Given the description of an element on the screen output the (x, y) to click on. 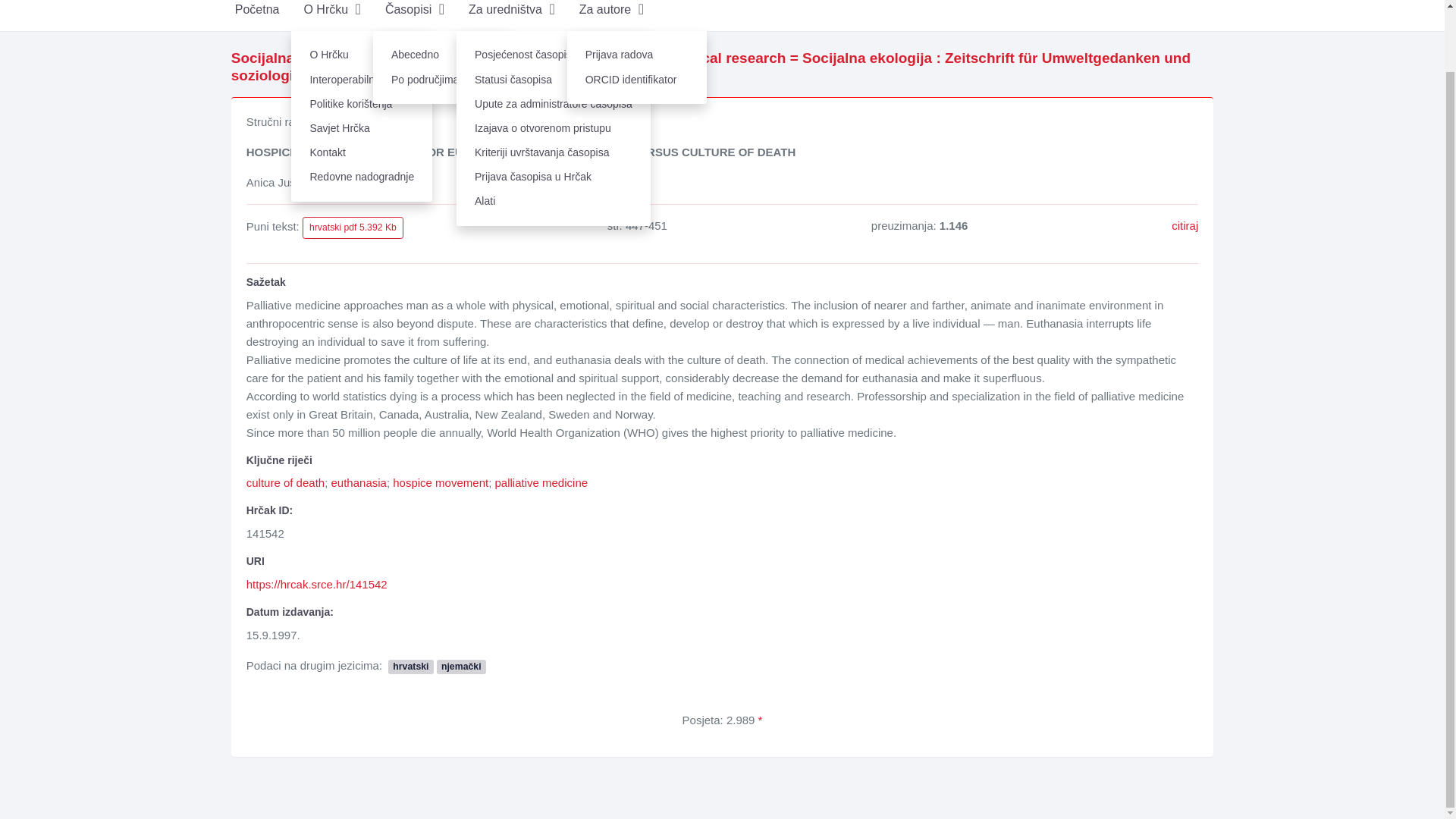
Abecedno (442, 55)
ORCID identifikator (636, 79)
Alati (553, 201)
Prijava radova (636, 55)
Za autore (611, 15)
Kontakt (361, 152)
citiraj (1185, 225)
Vol. 6 No. 4 (450, 75)
Izajava o otvorenom pristupu (553, 128)
hospice movement (440, 481)
Interoperabilnost (361, 79)
Redovne nadogradnje (361, 177)
euthanasia (357, 481)
hrvatski pdf 5.392 Kb (352, 227)
culture of death (285, 481)
